Given the description of an element on the screen output the (x, y) to click on. 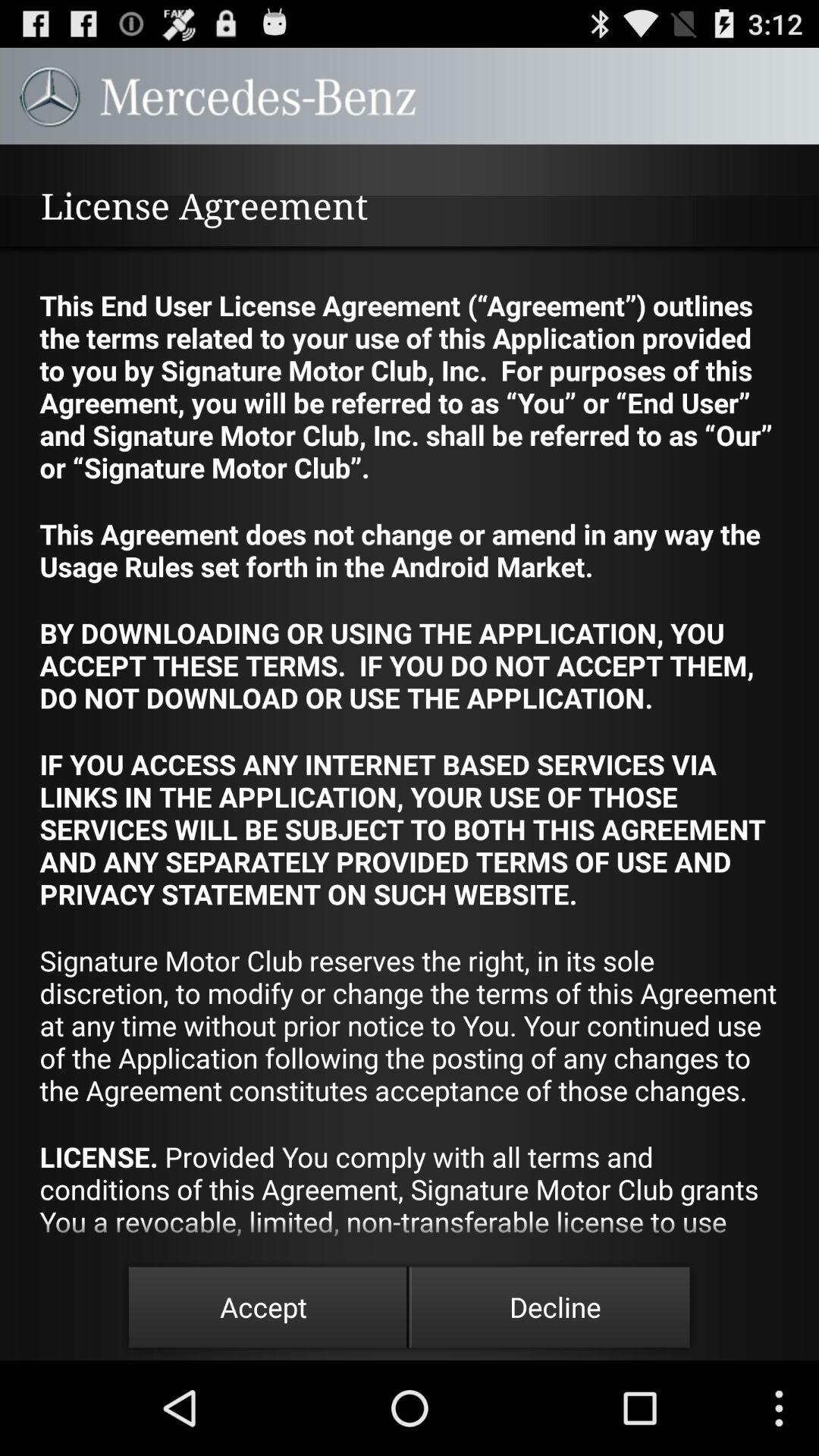
select the item below the license provided you app (554, 1306)
